Given the description of an element on the screen output the (x, y) to click on. 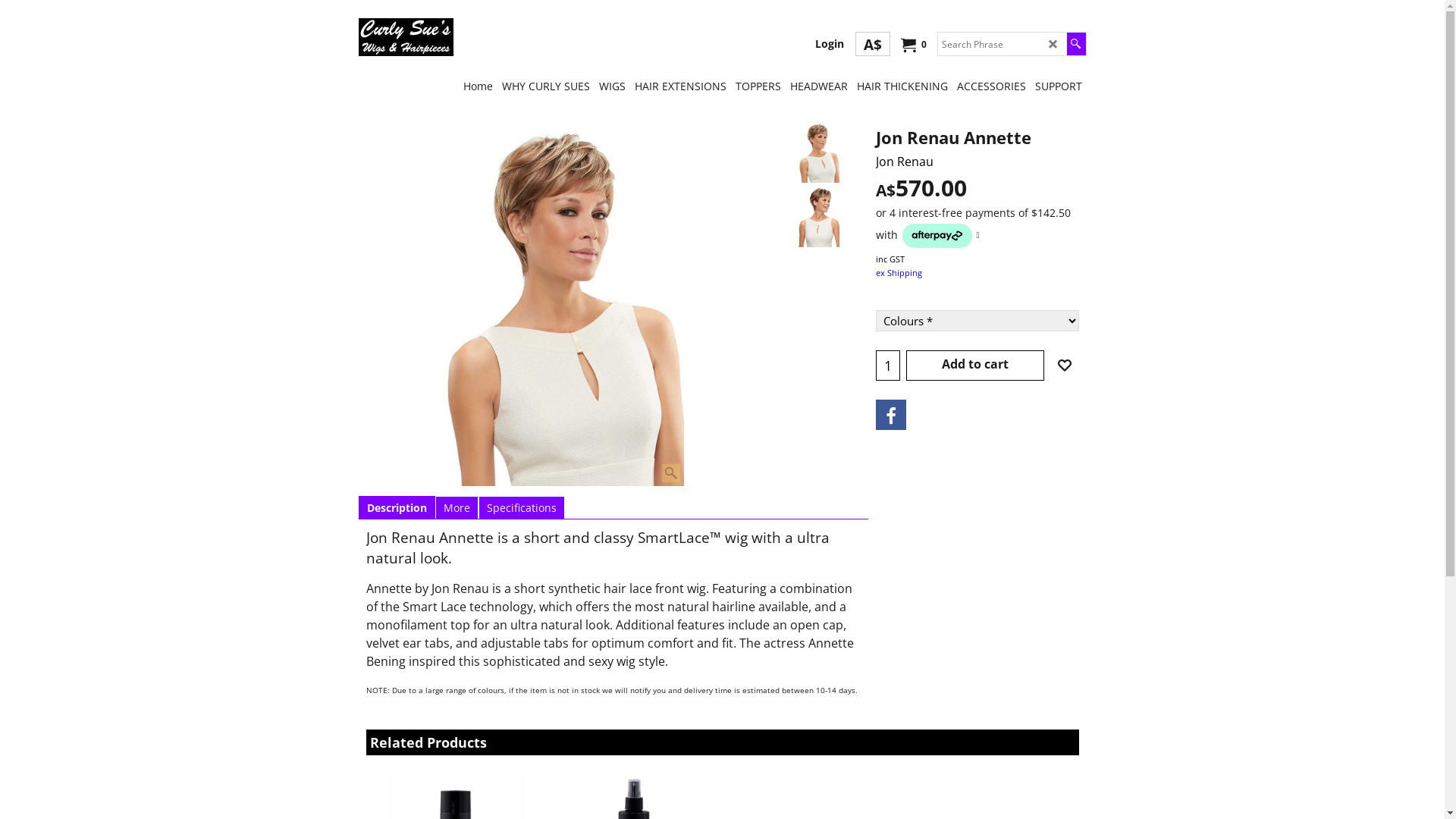
0 Element type: text (910, 44)
1 Element type: text (887, 365)
LD_CANCEL Element type: hover (1052, 43)
More Element type: text (455, 507)
Find Element type: hover (1075, 43)
Jon Renau Annette Side Element type: hover (818, 216)
Jon Renau Annette Element type: text (976, 153)
Login Element type: text (828, 43)
WHY CURLY SUES Element type: text (545, 85)
Favorites Element type: hover (1063, 365)
Add to cart Element type: text (974, 365)
WIGS Element type: text (612, 85)
A$ Element type: text (872, 43)
Specifications Element type: text (521, 507)
Facebook Element type: hover (890, 414)
TOPPERS Element type: text (758, 85)
ACCESSORIES Element type: text (991, 85)
SUPPORT Element type: text (1057, 85)
Jon Renau Annette Front Element type: hover (562, 304)
Description Element type: text (396, 507)
Jon Renau Annette Side Element type: hover (818, 216)
ex Shipping Element type: text (898, 272)
HEADWEAR Element type: text (818, 85)
HAIR THICKENING Element type: text (902, 85)
Home Element type: text (477, 85)
HAIR EXTENSIONS Element type: text (679, 85)
CS Logo Element type: hover (404, 37)
